Given the description of an element on the screen output the (x, y) to click on. 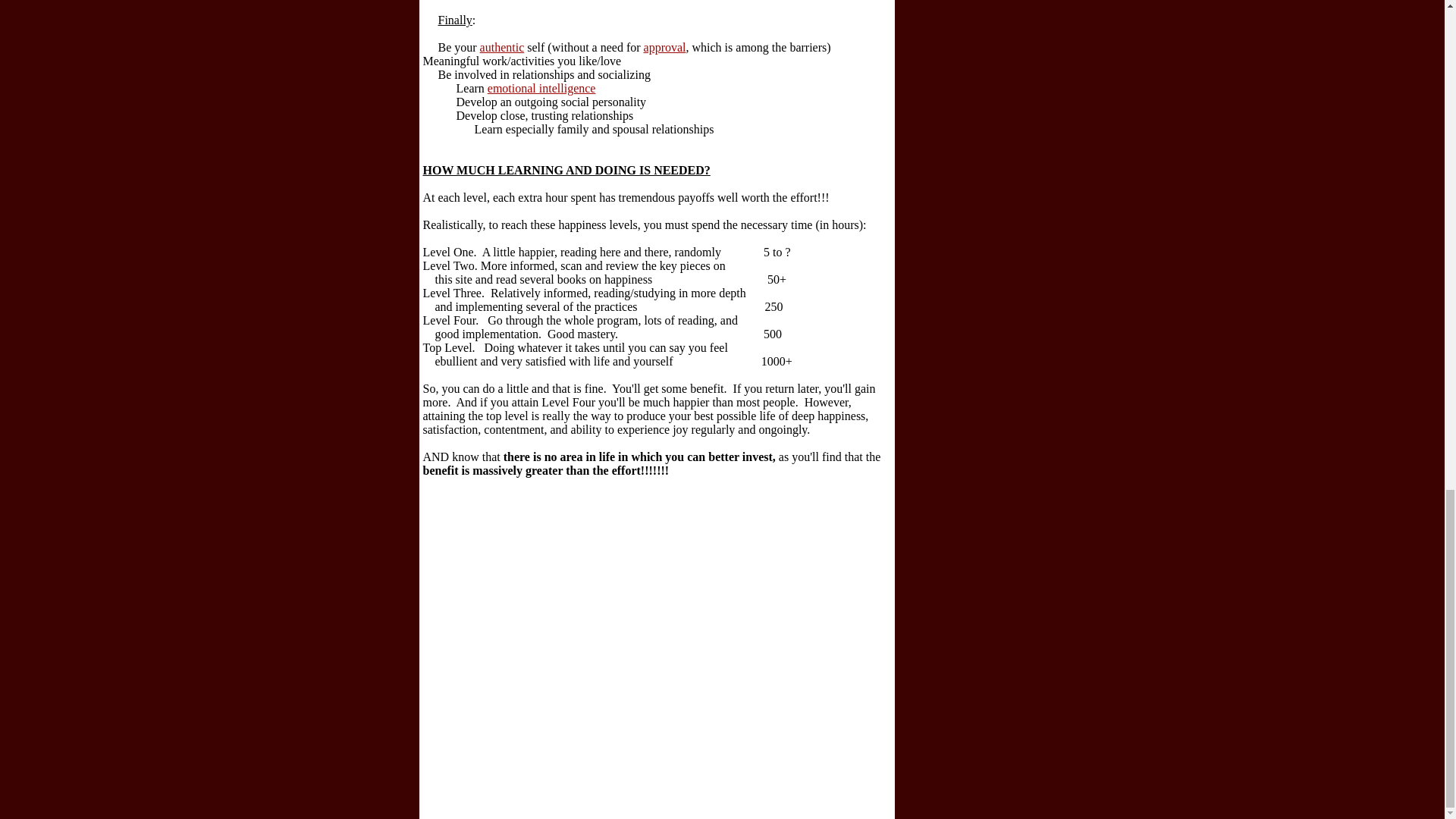
emotional intelligence (541, 88)
approval (664, 47)
authentic (502, 47)
